Given the description of an element on the screen output the (x, y) to click on. 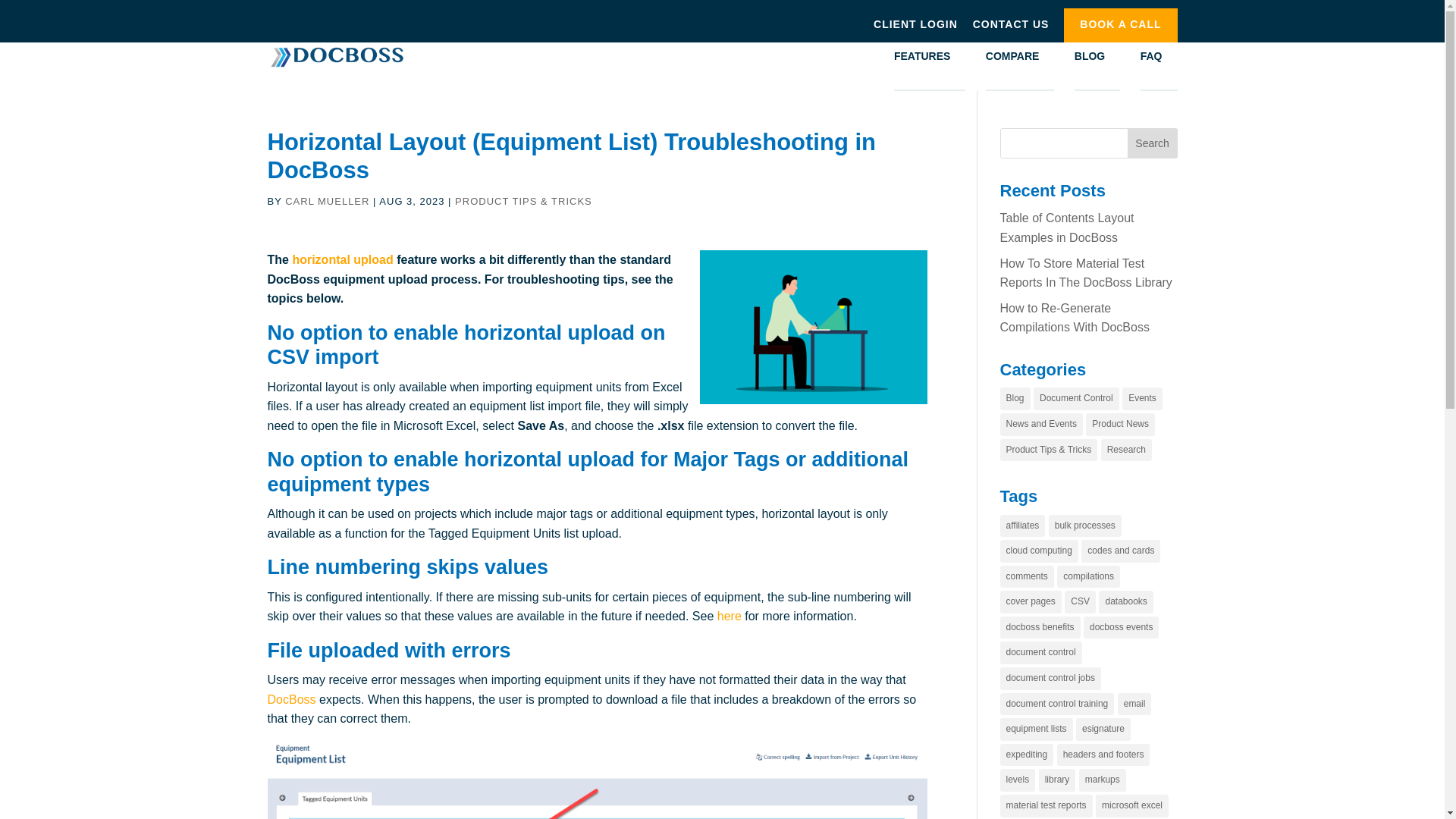
codes and cards (1120, 550)
CSV (1080, 601)
BOOK A CALL (1120, 27)
docboss events (1120, 627)
News and Events (1039, 424)
Search (1151, 142)
here (729, 615)
Document Control (1076, 398)
Table of Contents Layout Examples in DocBoss (1066, 227)
DocBoss (290, 698)
